Given the description of an element on the screen output the (x, y) to click on. 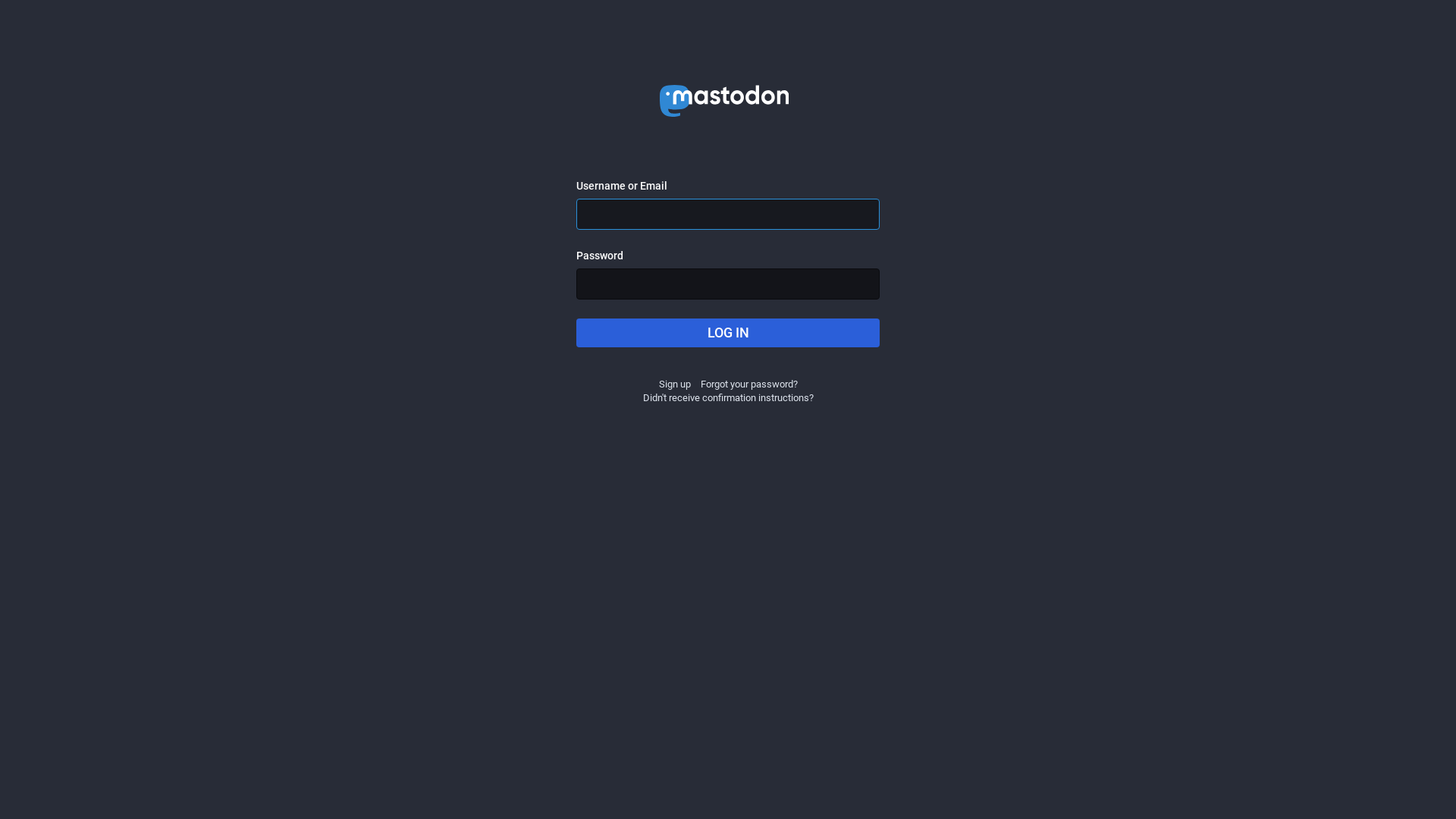
Didn't receive confirmation instructions? Element type: text (728, 397)
LOG IN Element type: text (727, 332)
Sign up Element type: text (674, 383)
Forgot your password? Element type: text (748, 383)
